Given the description of an element on the screen output the (x, y) to click on. 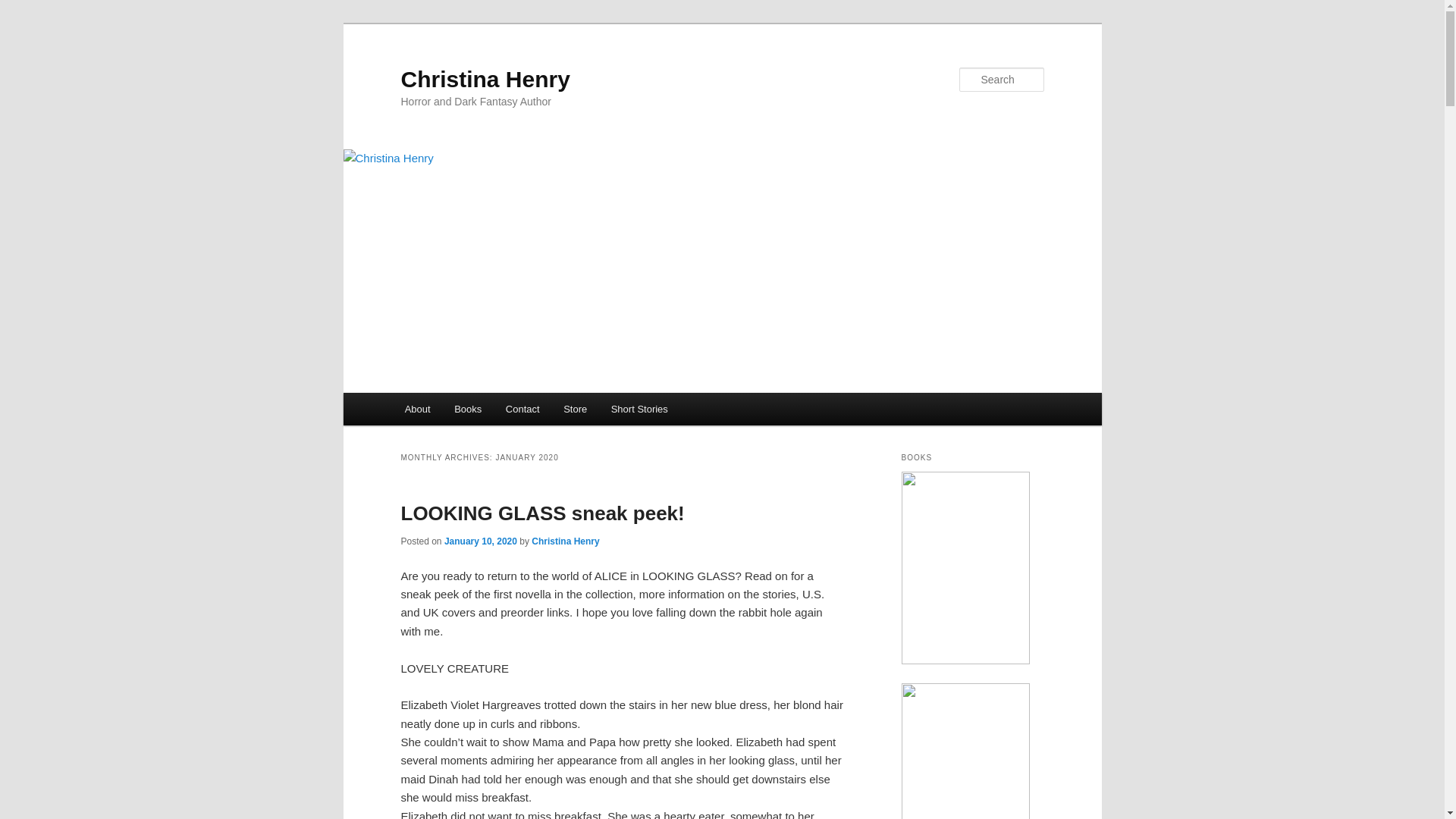
View all posts by Christina Henry (564, 541)
LOOKING GLASS sneak peek! (542, 513)
About (417, 409)
Books (467, 409)
Store (574, 409)
Search (24, 8)
Contact (522, 409)
9:48 am (480, 541)
Short Stories (638, 409)
Christina Henry (484, 78)
